Given the description of an element on the screen output the (x, y) to click on. 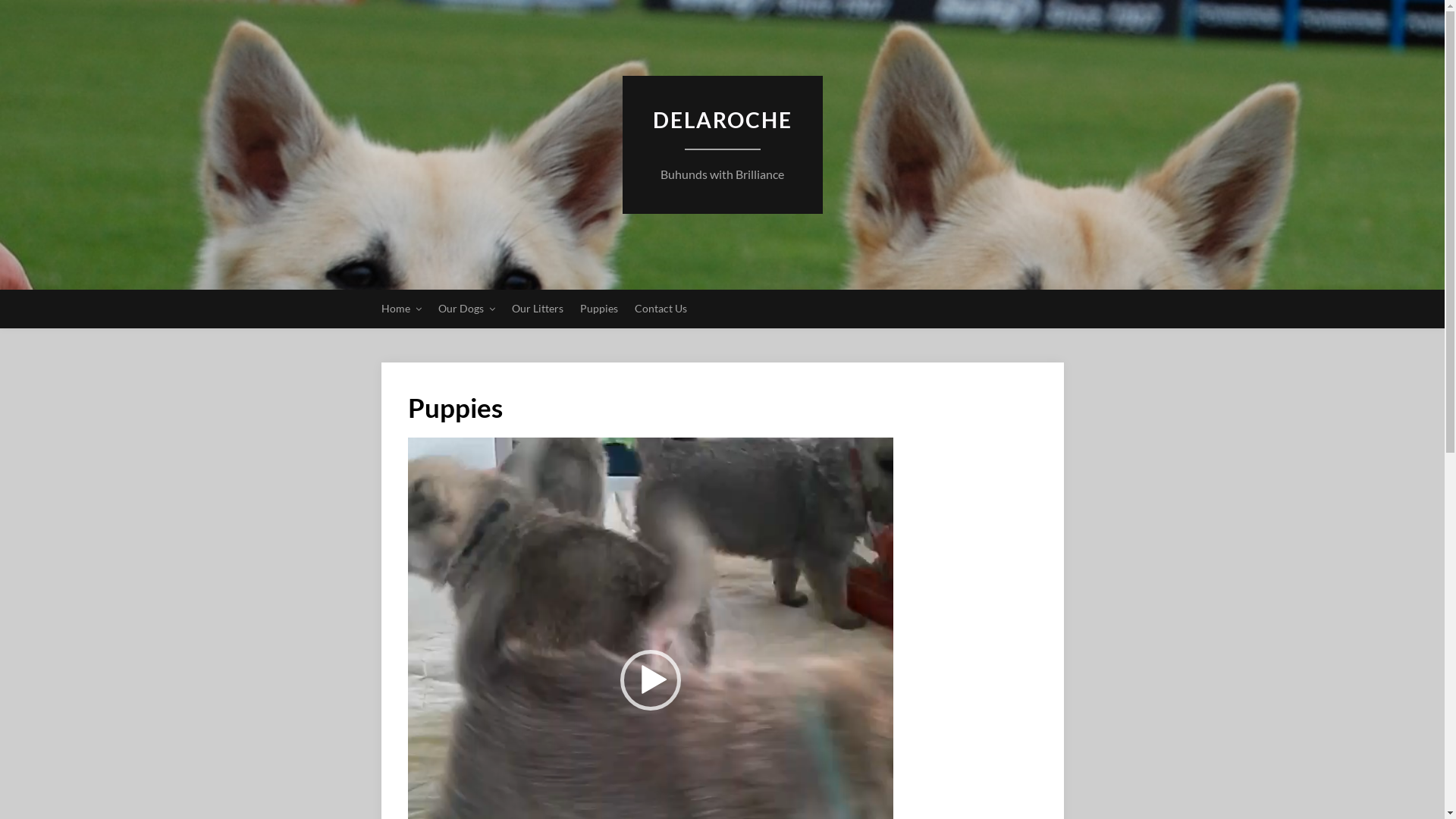
Home Element type: text (400, 308)
Contact Us Element type: text (659, 308)
DELAROCHE
Buhunds with Brilliance Element type: text (721, 174)
Our Litters Element type: text (536, 308)
Puppies Element type: text (598, 308)
Our Dogs Element type: text (466, 308)
